Given the description of an element on the screen output the (x, y) to click on. 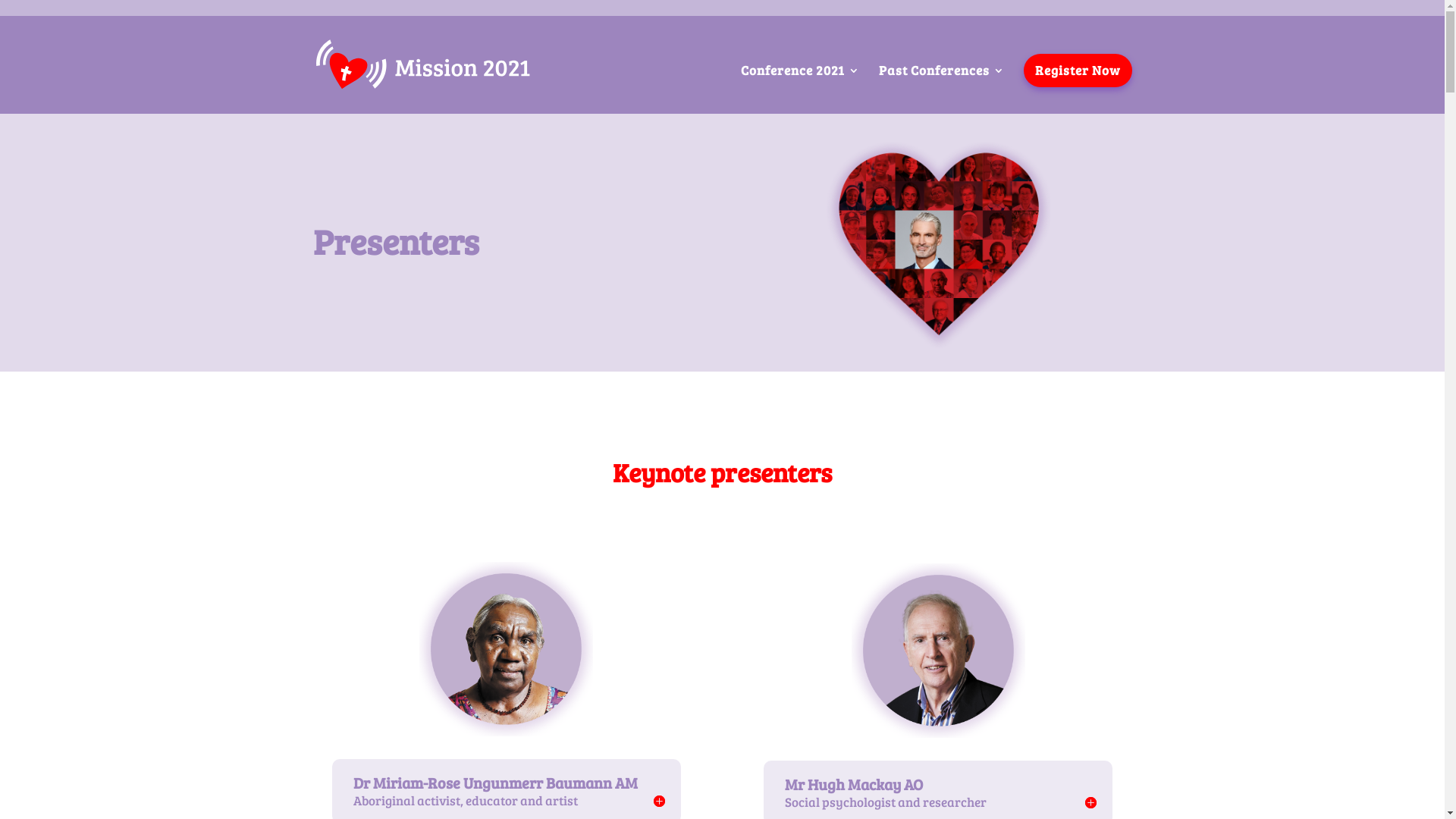
Register Now Element type: text (1077, 70)
Conference 2021 Element type: text (799, 89)
Past Conferences Element type: text (941, 89)
Miriam-Rose Ungunmerr-Baumann Element type: hover (506, 648)
Heart_red_craig Element type: hover (937, 245)
Hugh Mackay Element type: hover (938, 650)
